Given the description of an element on the screen output the (x, y) to click on. 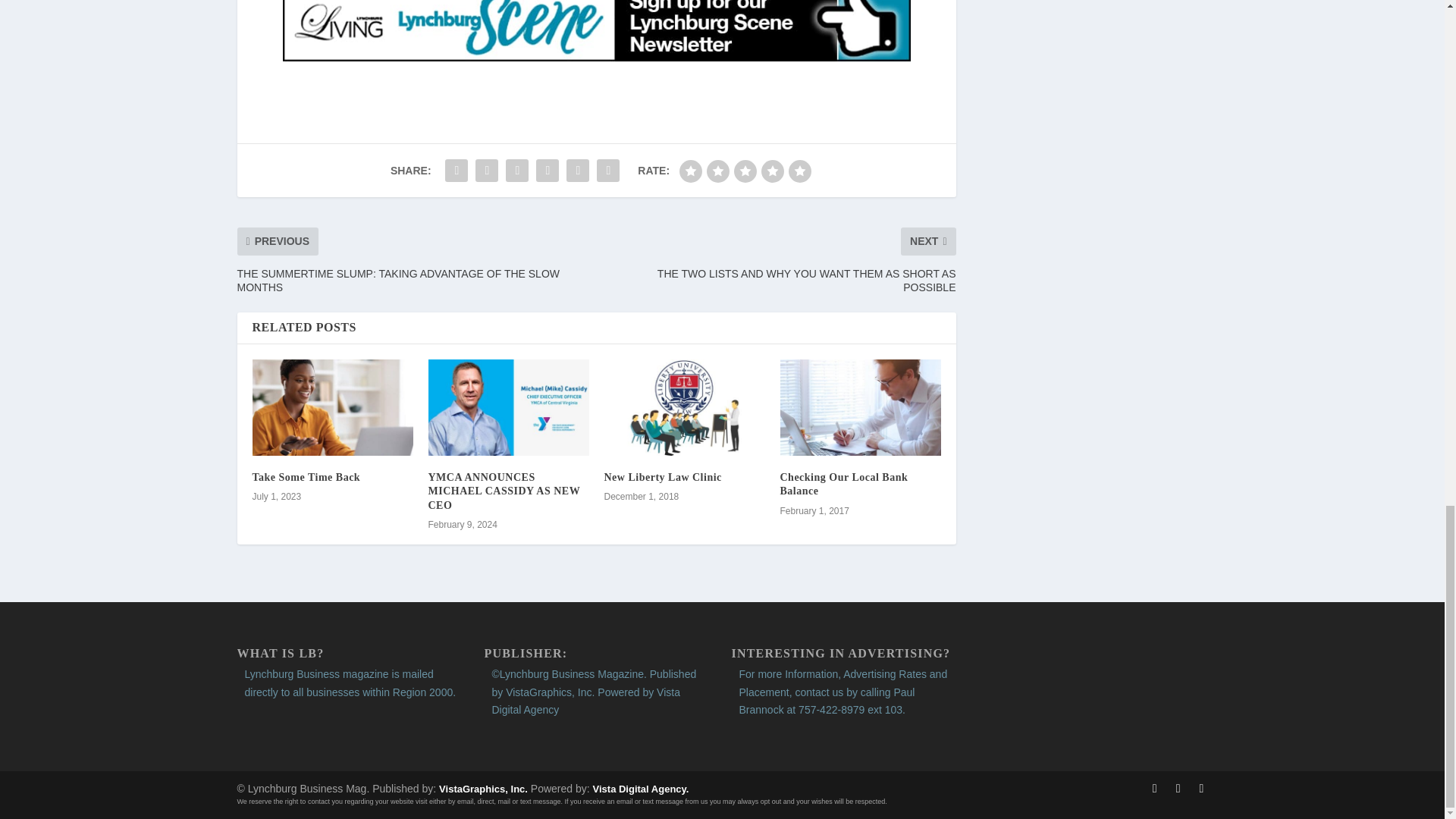
bad (690, 170)
poor (717, 170)
gorgeous (799, 170)
regular (745, 170)
good (772, 170)
